Given the description of an element on the screen output the (x, y) to click on. 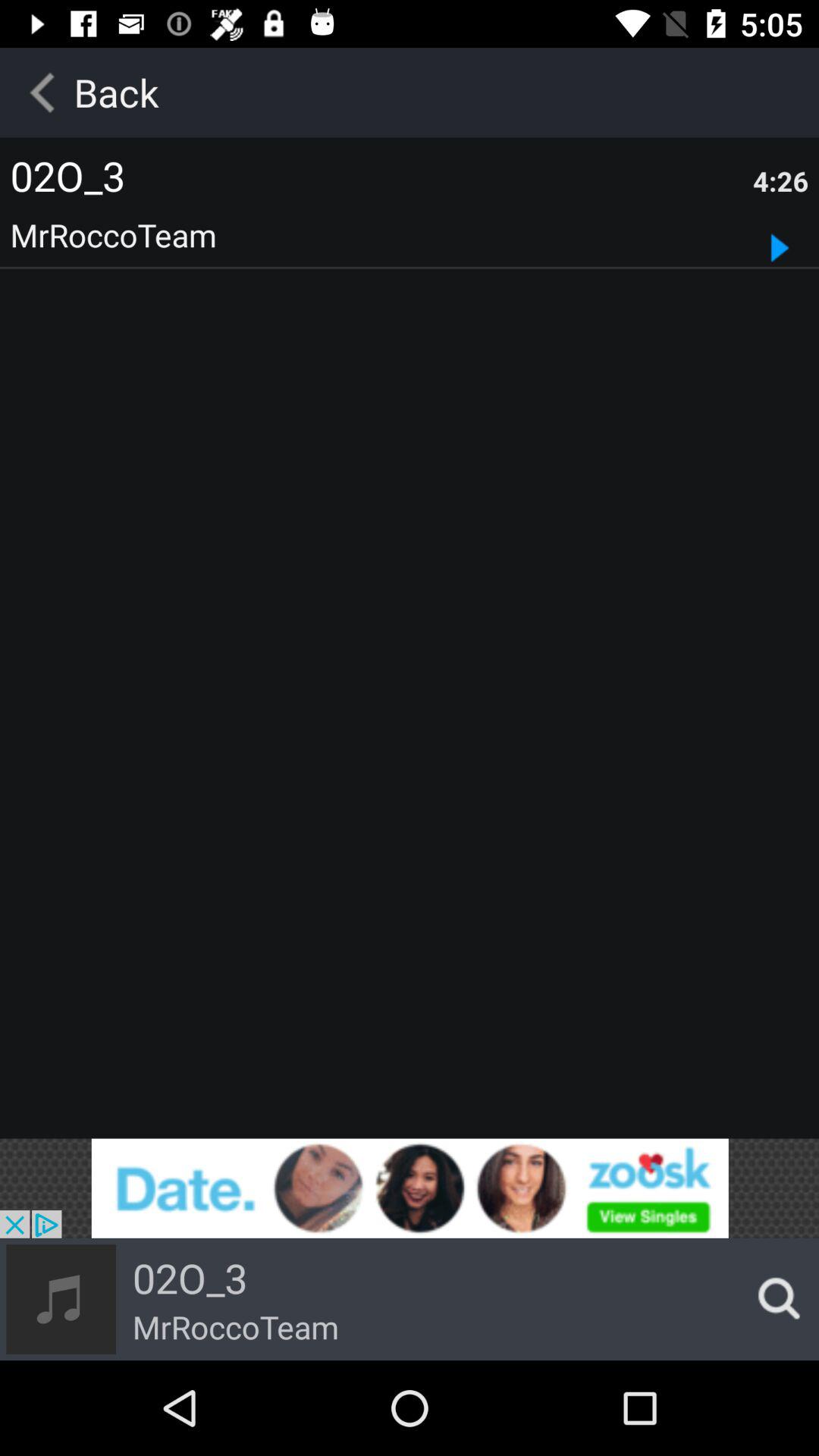
advertising area (409, 1188)
